Given the description of an element on the screen output the (x, y) to click on. 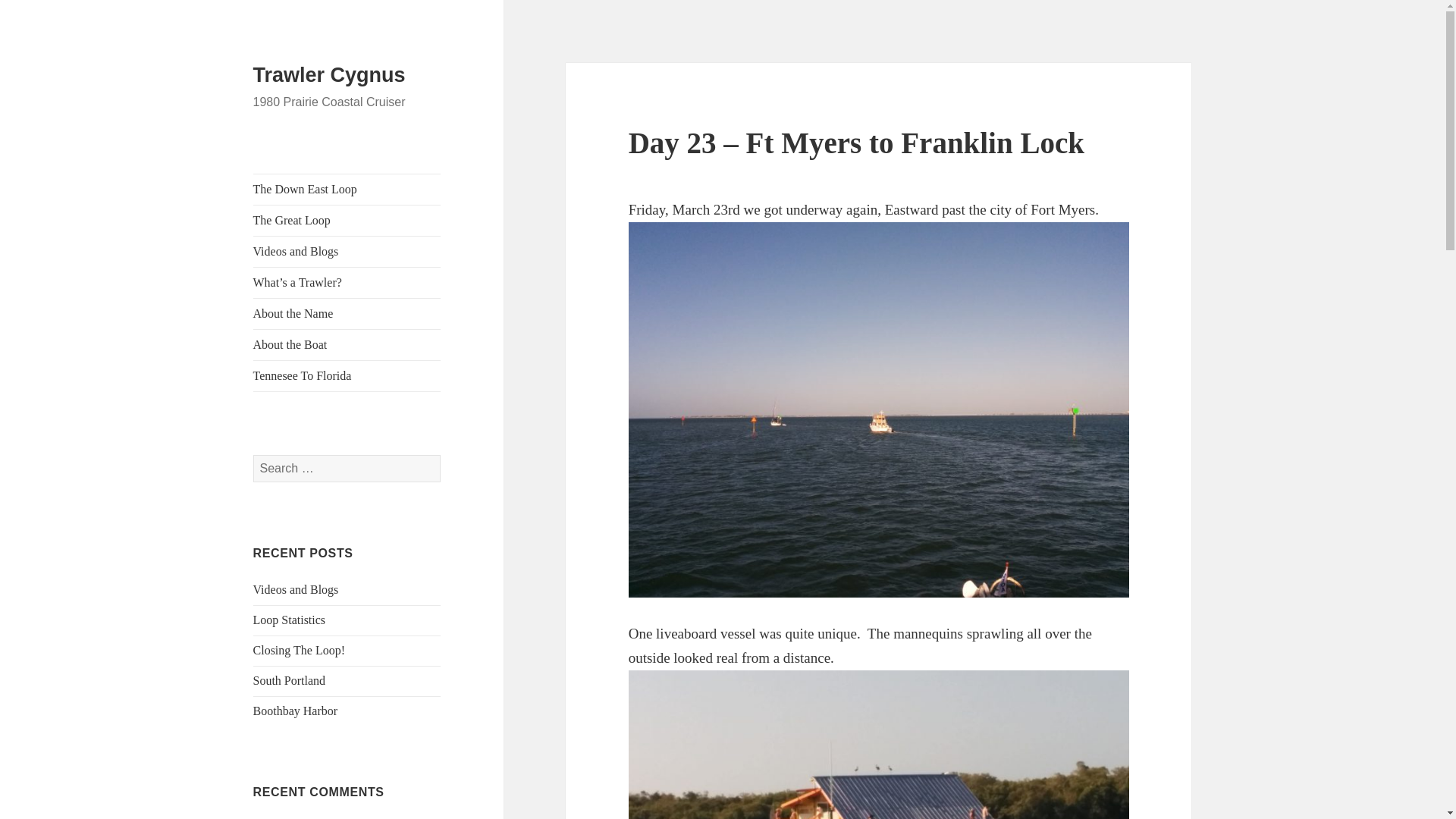
About the Name (347, 313)
Tennesee To Florida (347, 376)
Closing The Loop! (299, 649)
Boothbay Harbor (295, 710)
Trawler Cygnus (329, 74)
South Portland (289, 680)
The Down East Loop (347, 189)
Videos and Blogs (296, 589)
Loop Statistics (289, 619)
About the Boat (347, 345)
Videos and Blogs (347, 251)
The Great Loop (347, 220)
